Given the description of an element on the screen output the (x, y) to click on. 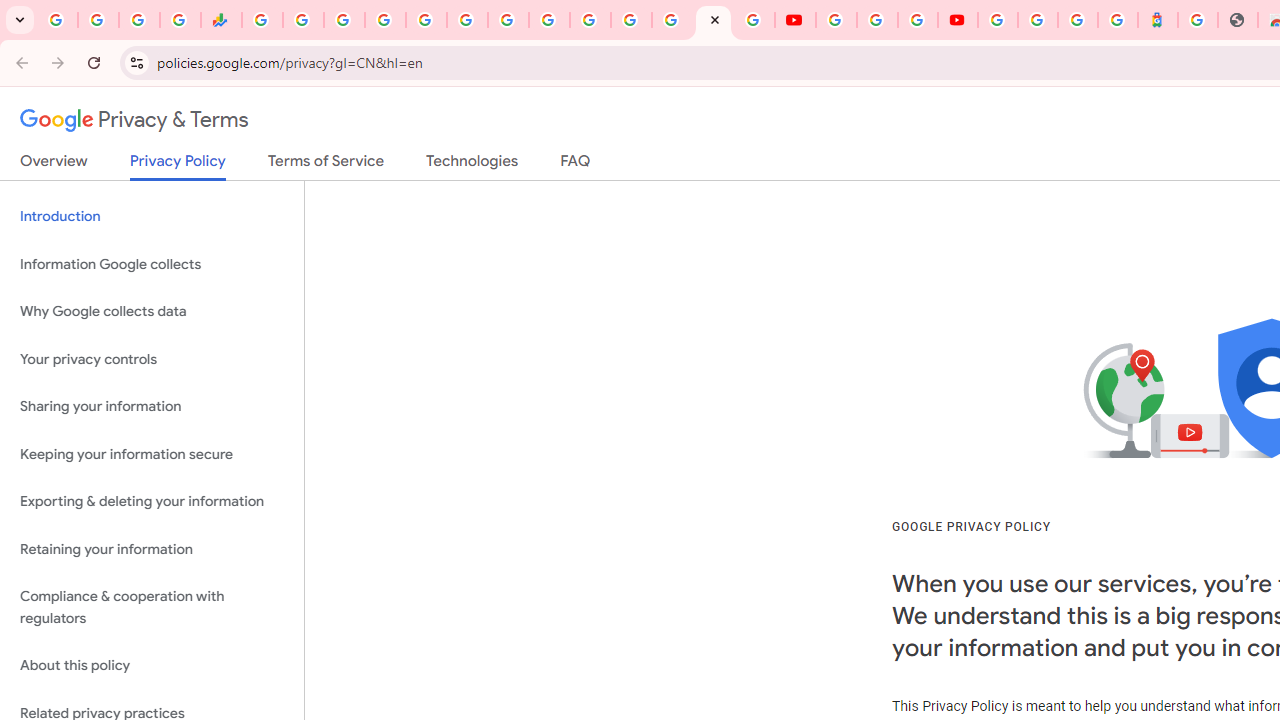
YouTube (795, 20)
Information Google collects (152, 263)
Sharing your information (152, 407)
Retaining your information (152, 548)
Atour Hotel - Google hotels (1157, 20)
Content Creator Programs & Opportunities - YouTube Creators (957, 20)
